Given the description of an element on the screen output the (x, y) to click on. 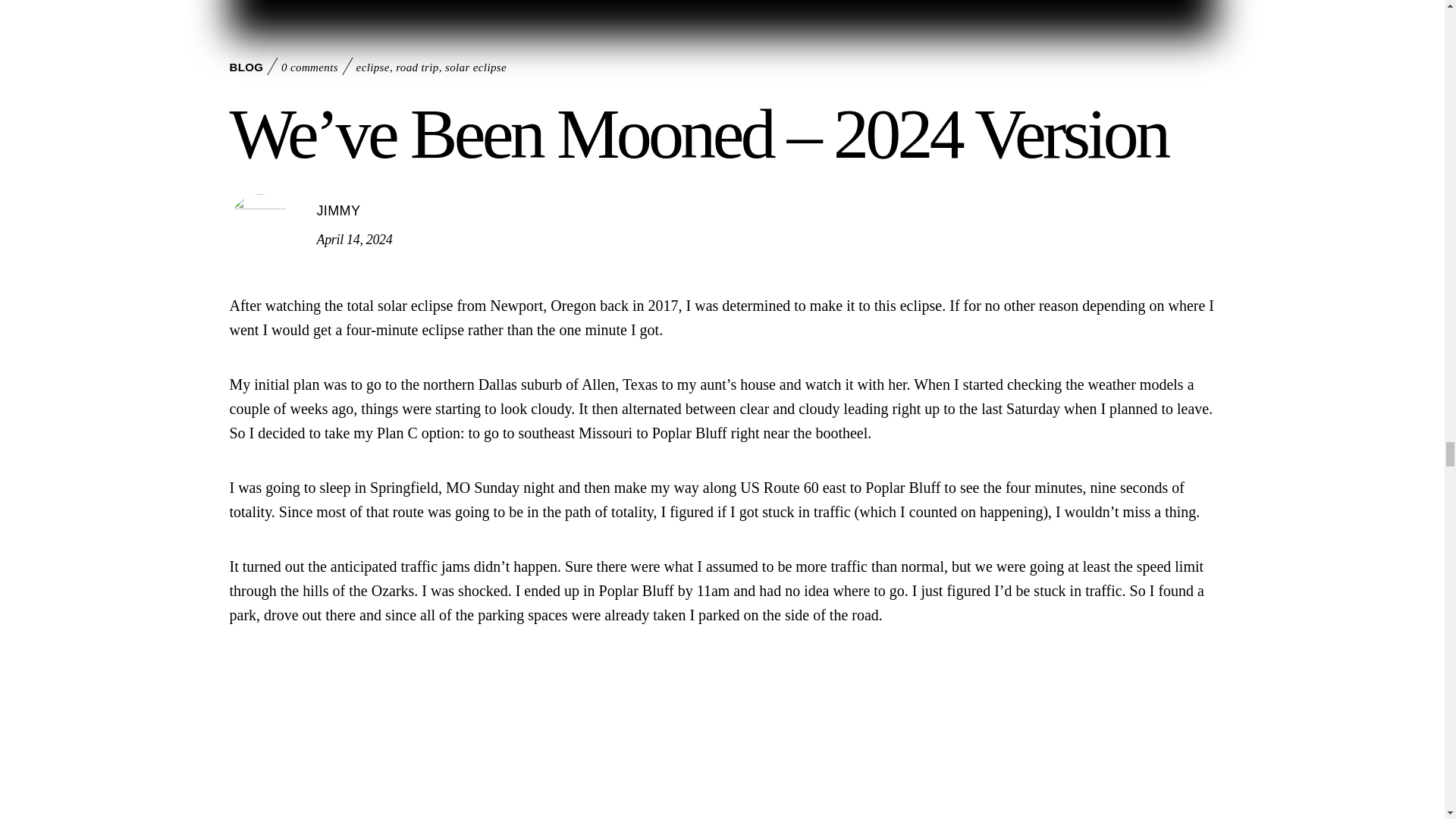
Total Solar Eclipse 2024 (721, 18)
